Given the description of an element on the screen output the (x, y) to click on. 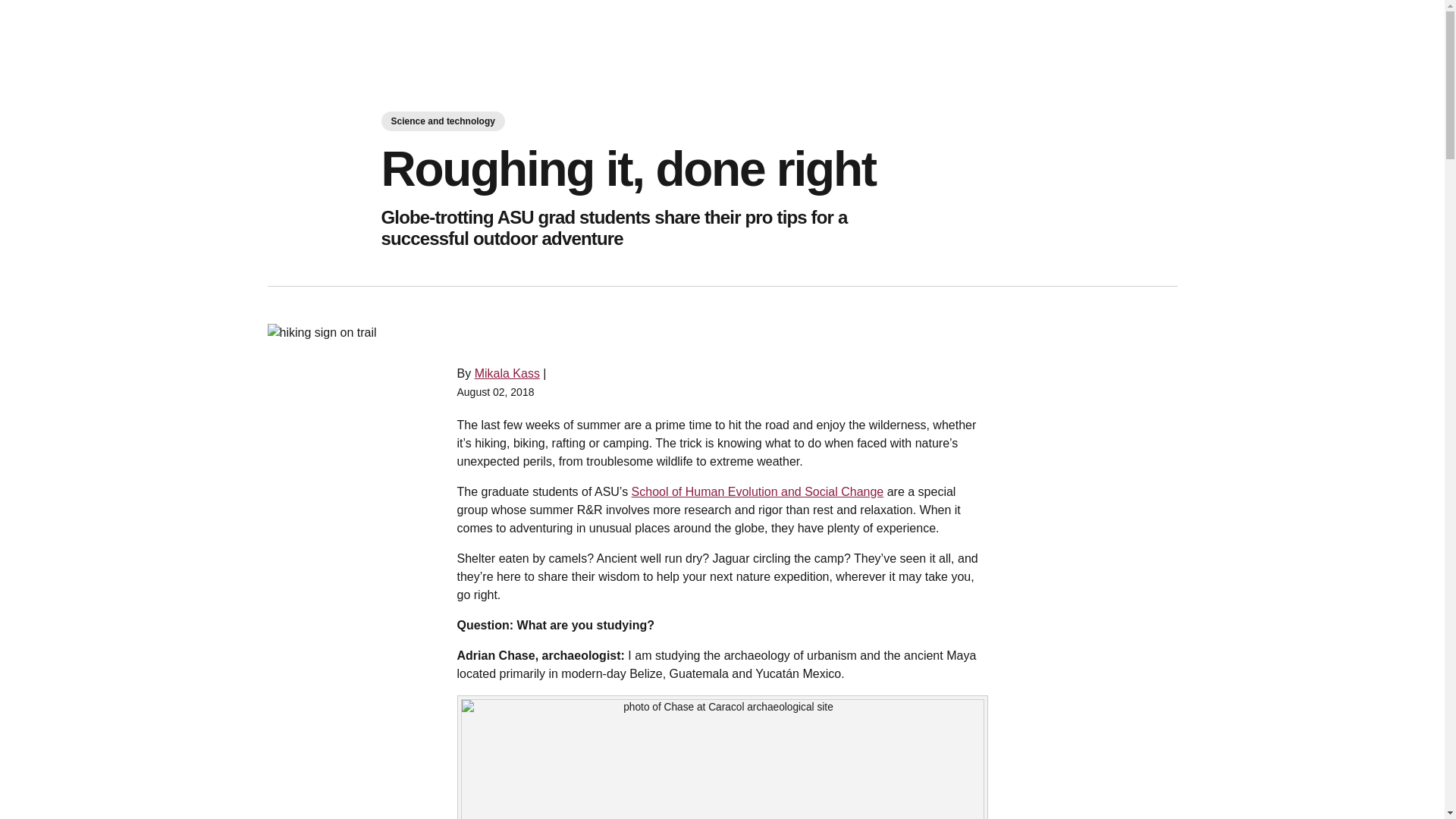
Chase at Caracol (722, 759)
Mikala Kass (507, 373)
School of Human Evolution and Social Change (757, 491)
Science and technology (441, 121)
